Given the description of an element on the screen output the (x, y) to click on. 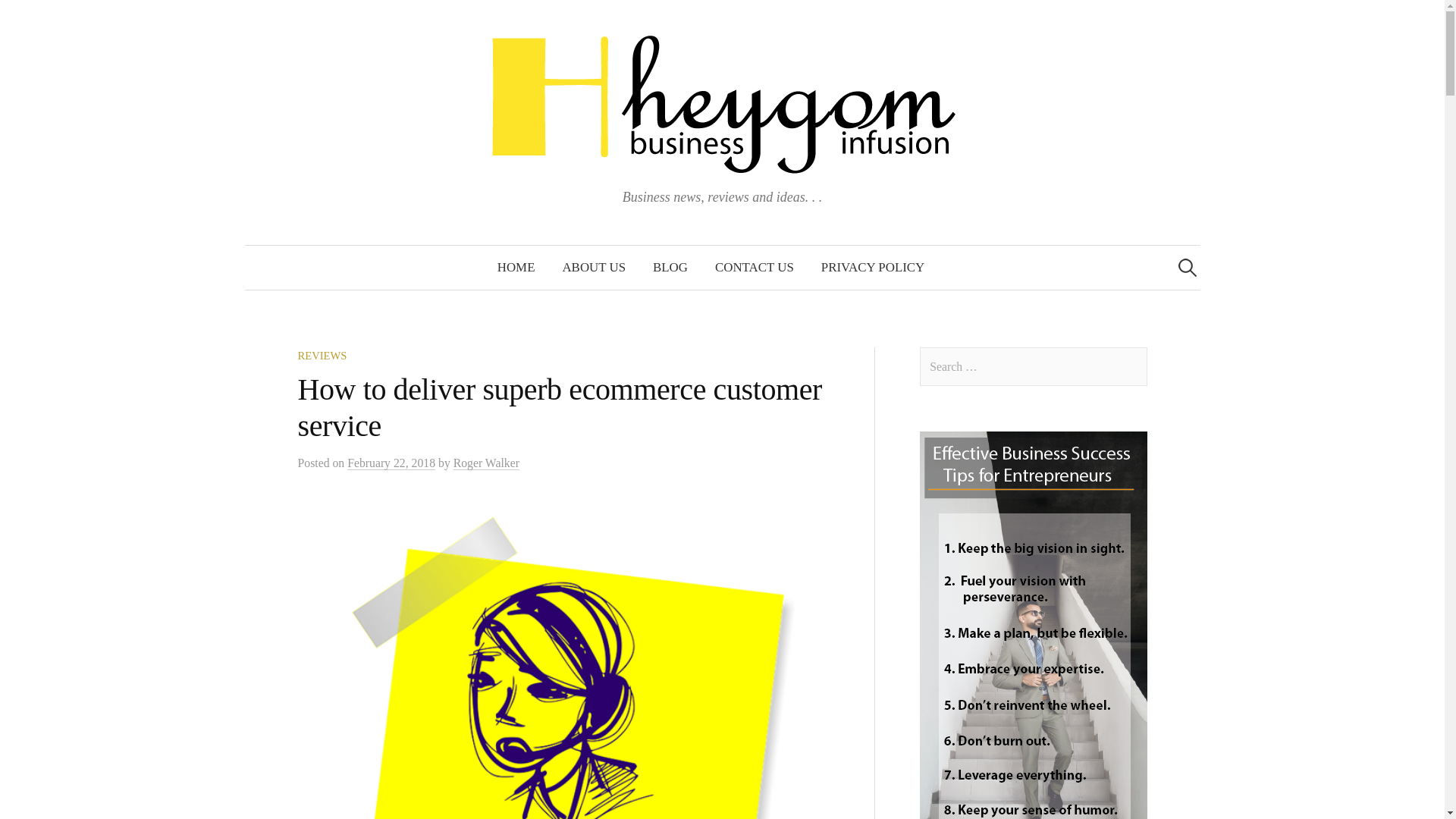
ABOUT US (593, 267)
Search (40, 18)
BLOG (670, 267)
View all posts by Roger Walker (485, 463)
February 22, 2018 (391, 463)
HOME (515, 267)
REVIEWS (321, 355)
PRIVACY POLICY (872, 267)
CONTACT US (754, 267)
Roger Walker (485, 463)
Click Here (1033, 625)
Search (18, 18)
